Given the description of an element on the screen output the (x, y) to click on. 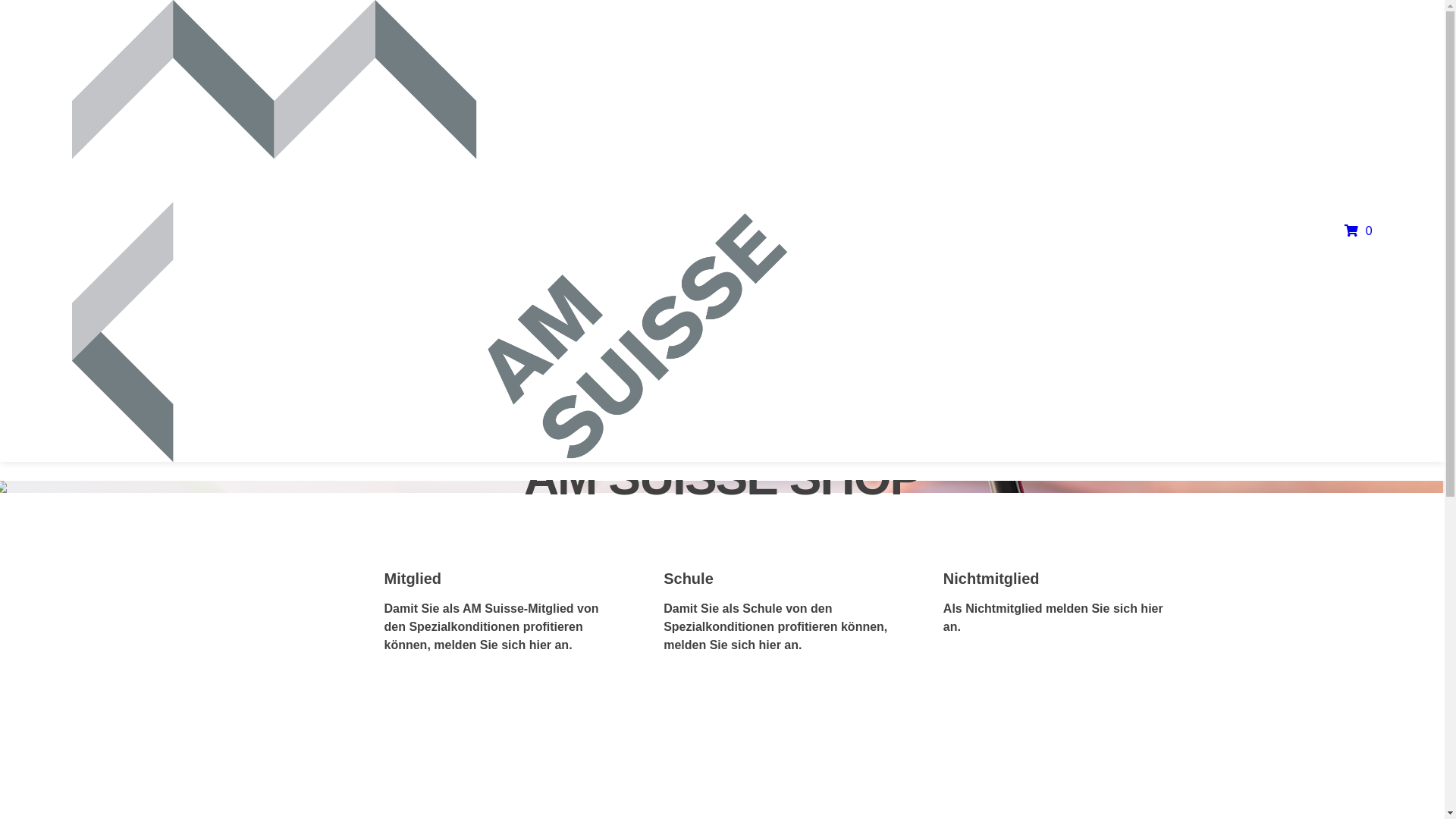
MITGLIED Element type: text (418, 688)
SCHULE Element type: text (694, 688)
0 Element type: text (1338, 231)
NICHTMITGLIED Element type: text (994, 707)
